Given the description of an element on the screen output the (x, y) to click on. 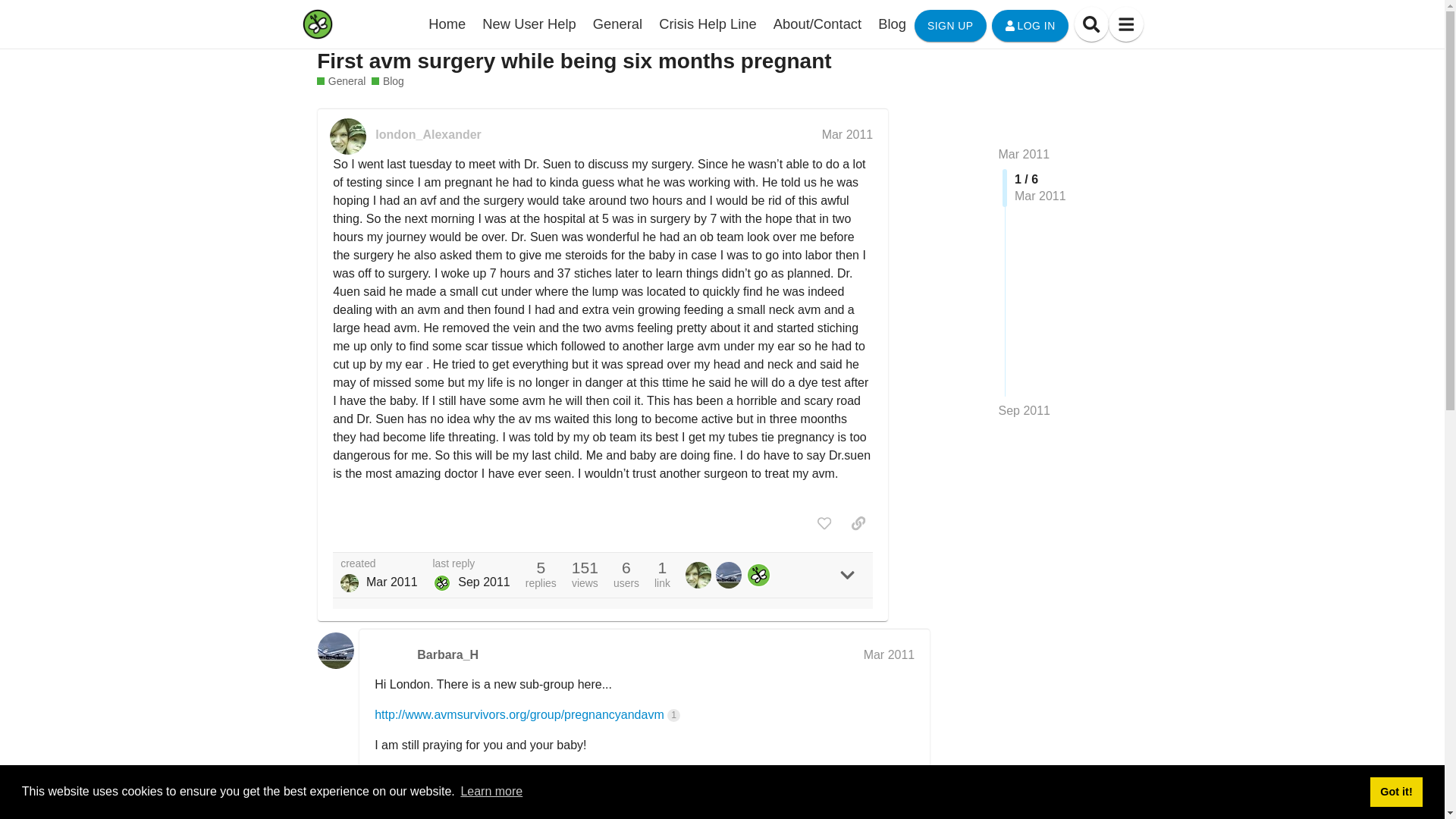
Search (1091, 23)
First avm surgery while being six months pregnant (574, 60)
copy a link to this post to clipboard (858, 523)
Mar 2011 (889, 654)
SIGN UP (950, 25)
Mar 30, 2011 7:10 am (391, 581)
Jump to the last post (1023, 410)
Sep 2011 (1023, 410)
menu (1125, 23)
A collection of writings by our AVMSurvivor members. (387, 81)
expand topic details (847, 574)
Learn more (491, 791)
krc52677 (441, 583)
Crisis Help Line (707, 23)
New User Help (528, 23)
